Given the description of an element on the screen output the (x, y) to click on. 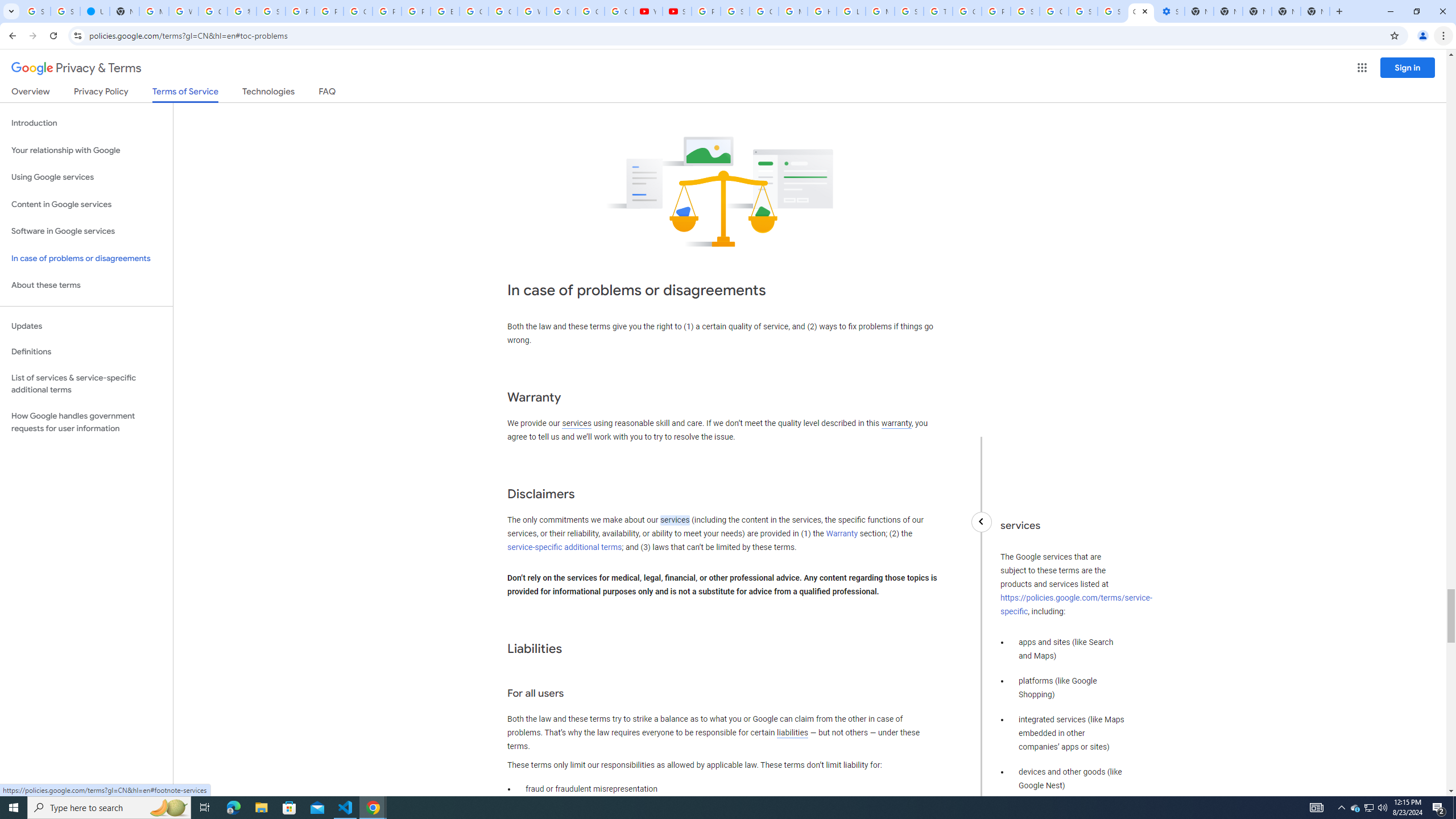
Privacy Policy (100, 93)
Edit and view right-to-left text - Google Docs Editors Help (444, 11)
Warranty (841, 533)
Sign in - Google Accounts (734, 11)
